Given the description of an element on the screen output the (x, y) to click on. 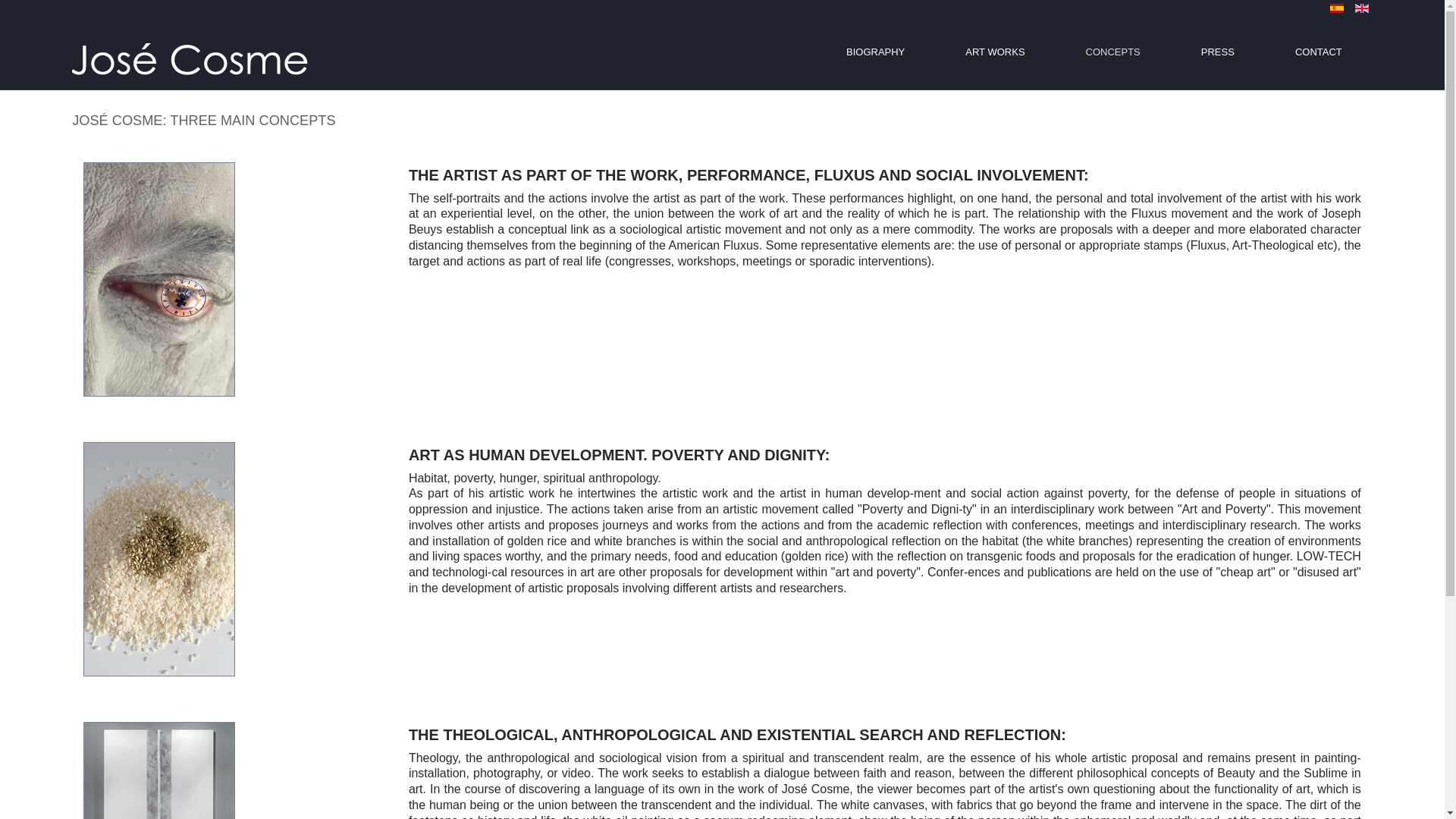
PRESS (1217, 51)
CONTACT (1319, 51)
CONCEPTS (1112, 51)
ART WORKS (994, 51)
BIOGRAPHY (874, 51)
